Given the description of an element on the screen output the (x, y) to click on. 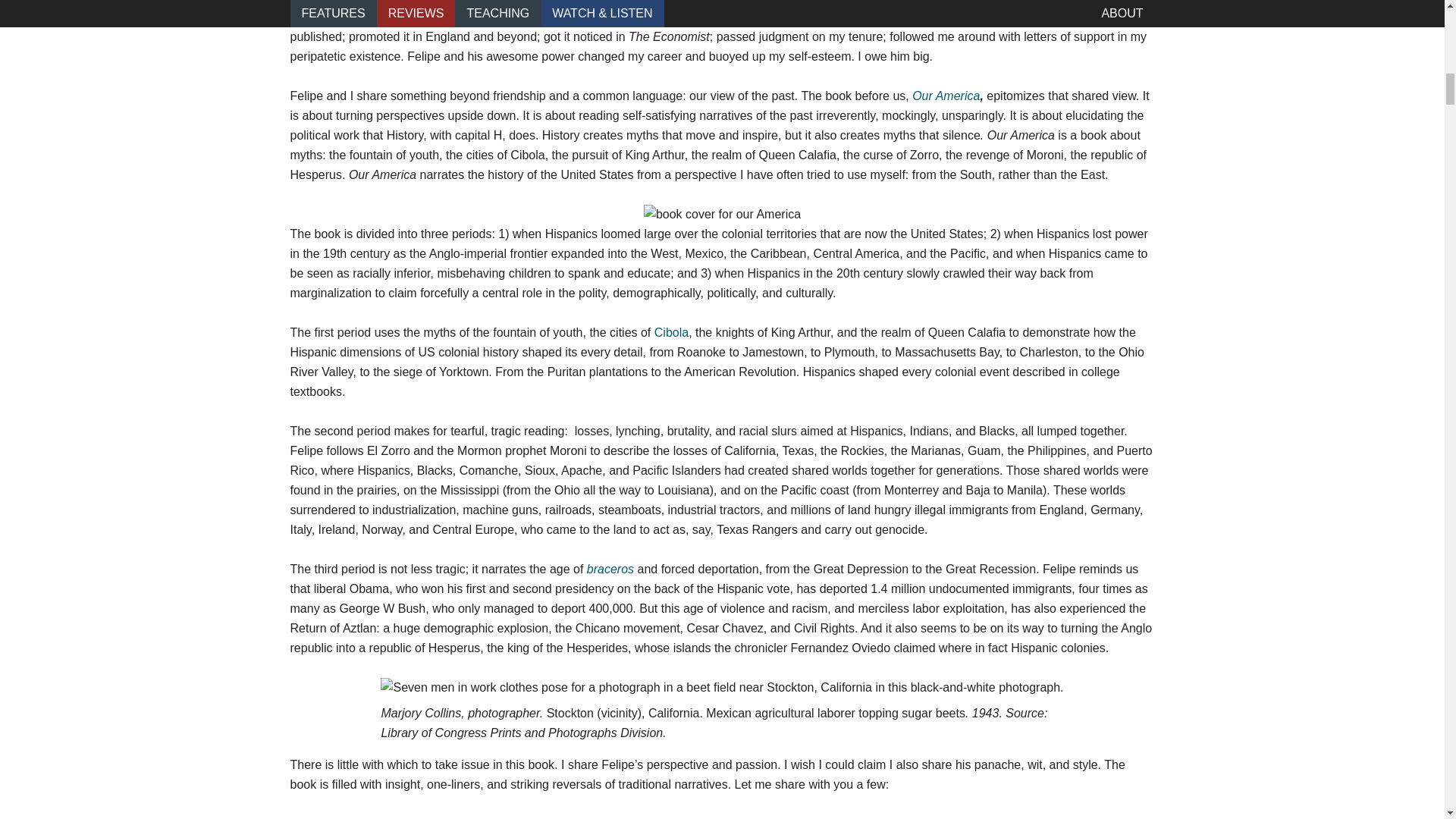
braceros (609, 568)
Our America (945, 95)
Marjory Collins, photographer. (463, 712)
Cibola (670, 332)
